Given the description of an element on the screen output the (x, y) to click on. 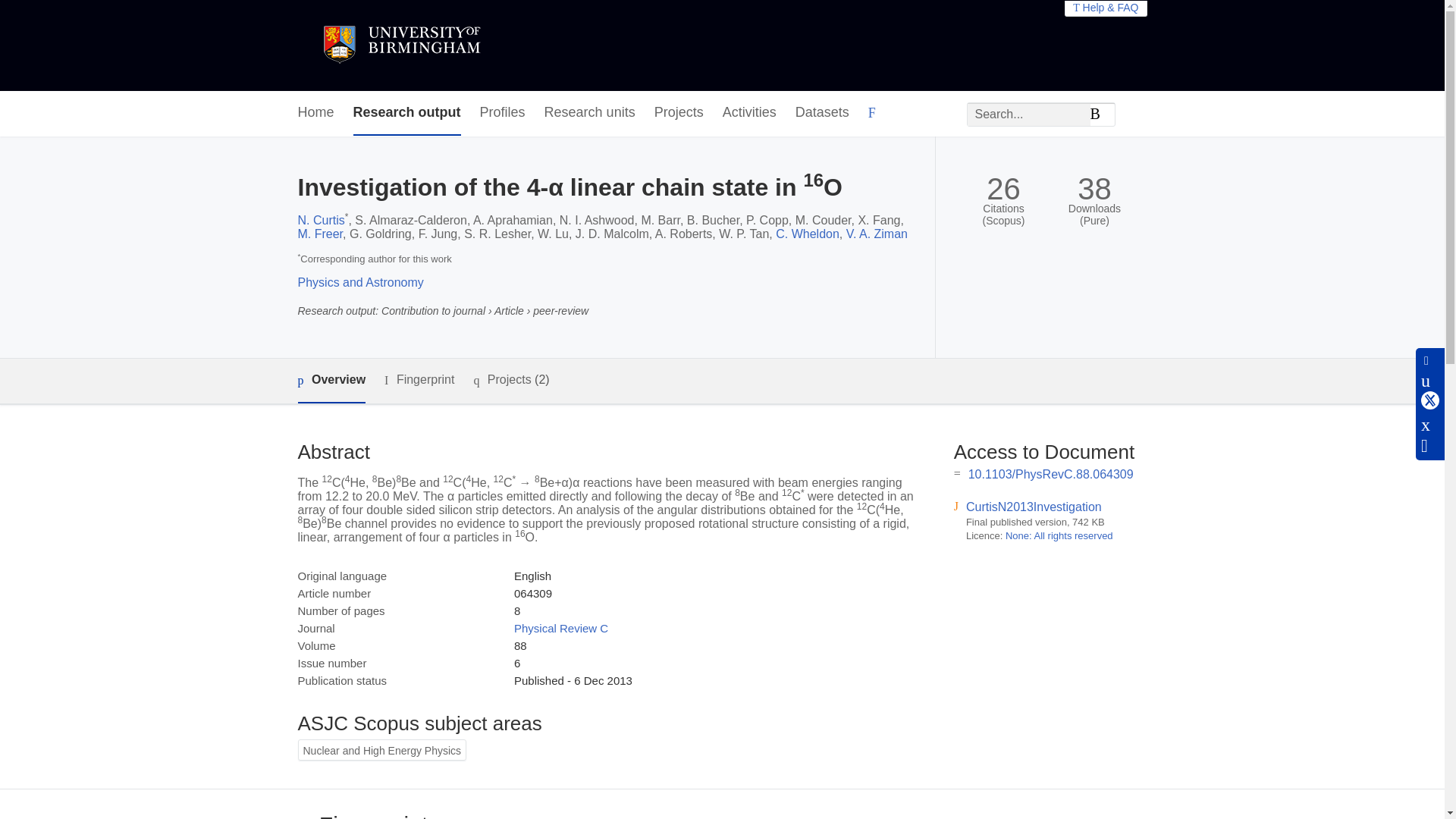
Fingerprint (419, 380)
None: All rights reserved (1059, 535)
University of Birmingham Home (401, 45)
N. Curtis (320, 219)
V. A. Ziman (876, 233)
Physics and Astronomy (360, 282)
CurtisN2013Investigation (1034, 506)
Activities (749, 112)
Profiles (502, 112)
Overview (331, 380)
Datasets (821, 112)
Projects (678, 112)
Research units (589, 112)
C. Wheldon (808, 233)
